Given the description of an element on the screen output the (x, y) to click on. 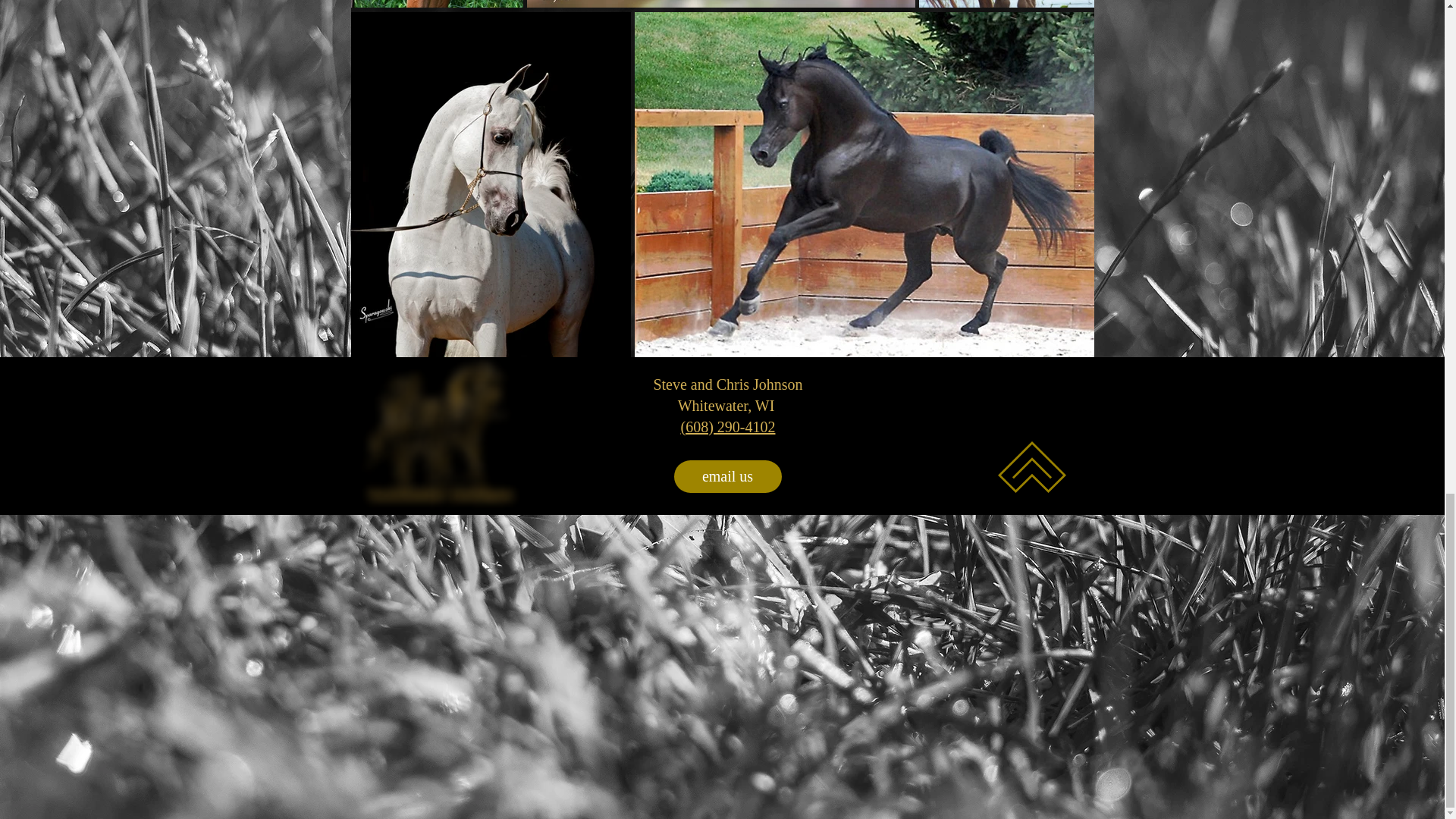
email us (726, 476)
